Given the description of an element on the screen output the (x, y) to click on. 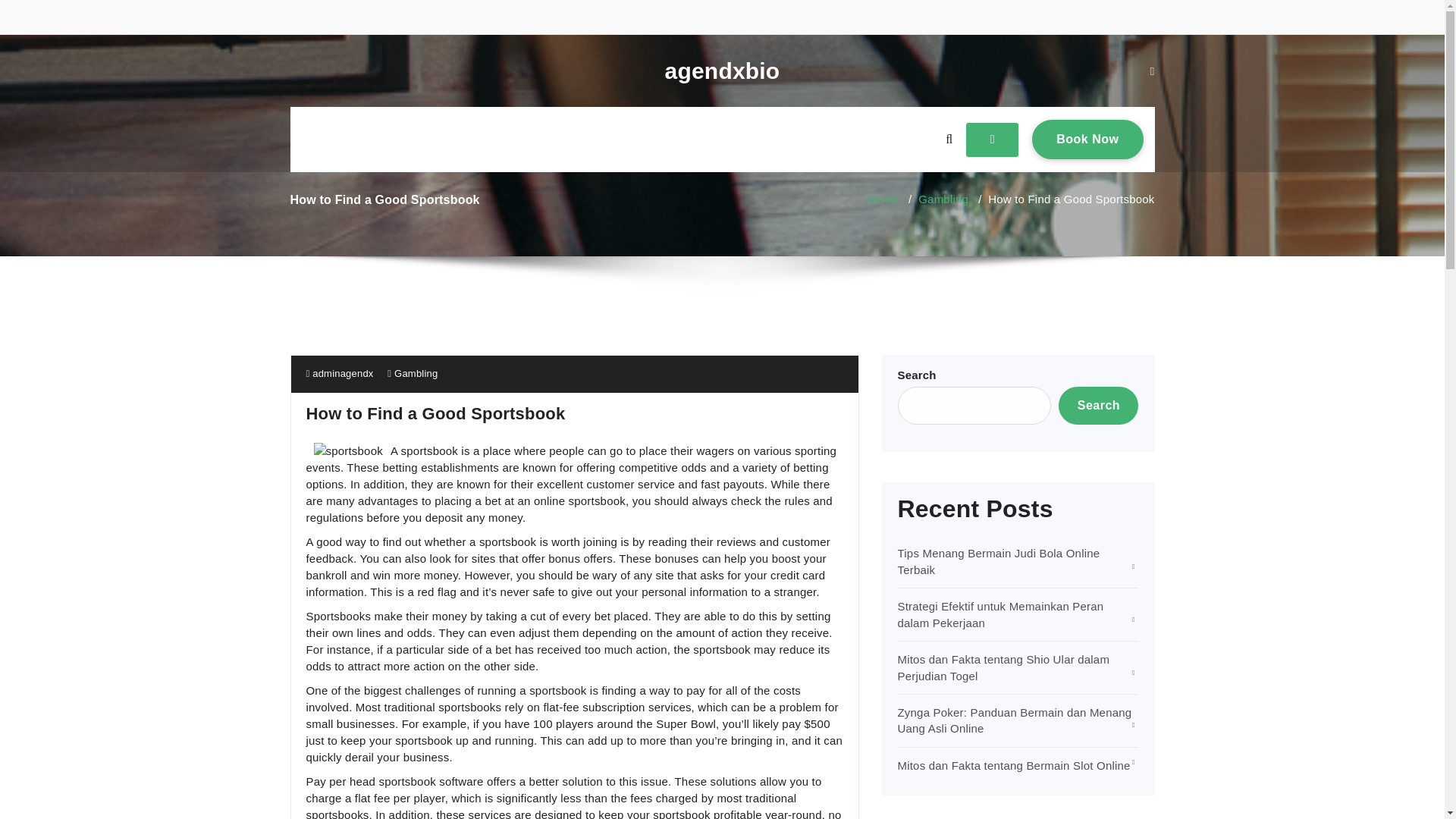
Mitos dan Fakta tentang Shio Ular dalam Perjudian Togel (1003, 666)
Gambling (943, 198)
adminagendx (339, 373)
Mitos dan Fakta tentang Bermain Slot Online (1014, 765)
Search (1098, 405)
Tips Menang Bermain Judi Bola Online Terbaik (999, 561)
Zynga Poker: Panduan Bermain dan Menang Uang Asli Online (1015, 719)
Gambling (416, 373)
Home (882, 198)
Strategi Efektif untuk Memainkan Peran dalam Pekerjaan (1087, 138)
agendxbio (1000, 613)
